Given the description of an element on the screen output the (x, y) to click on. 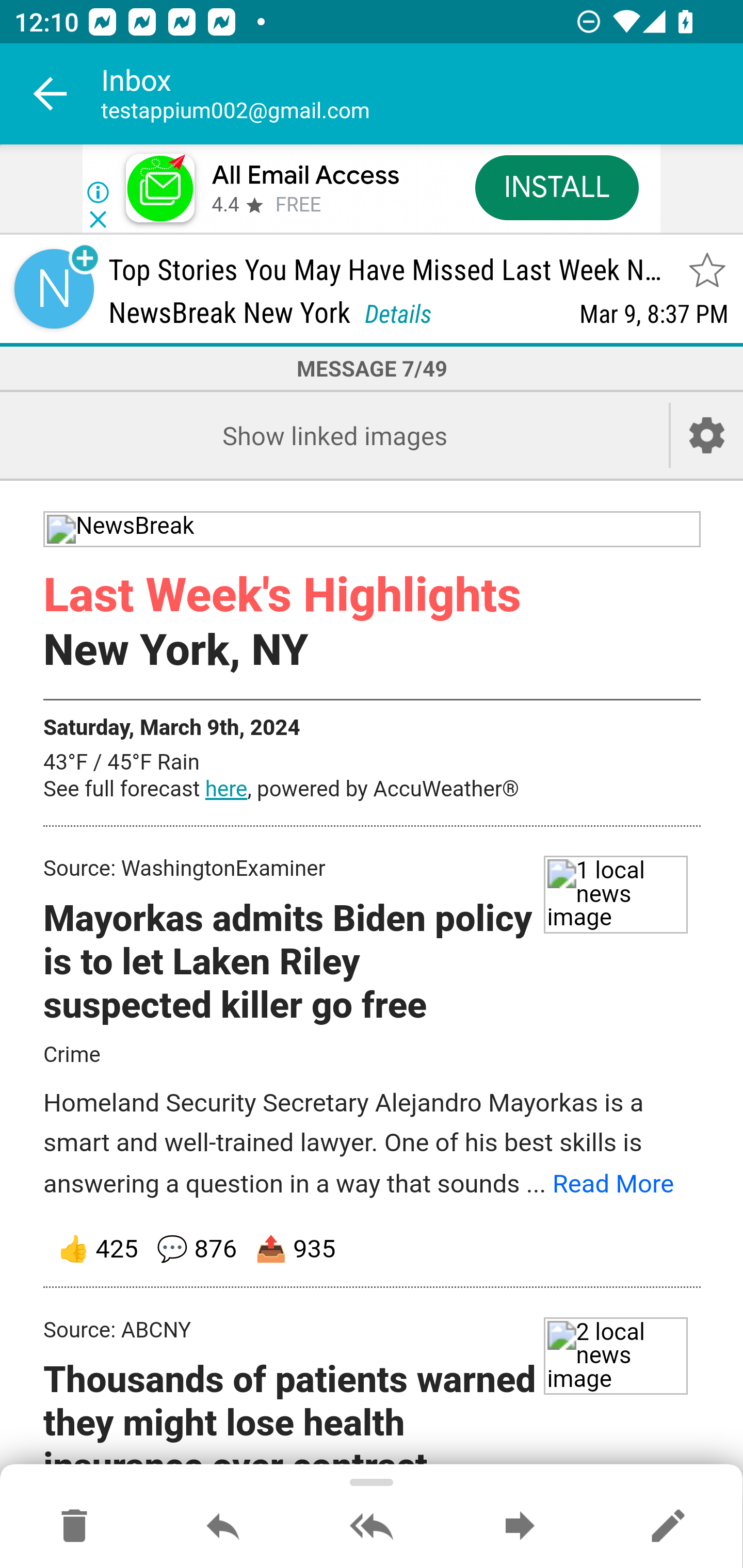
Navigate up (50, 93)
Inbox testappium002@gmail.com (422, 93)
INSTALL (556, 187)
All Email Access (305, 175)
4.4 (224, 204)
FREE (298, 204)
Sender contact button (53, 289)
Show linked images (334, 435)
Account setup (706, 435)
here (225, 789)
👍 425   💬 876   📤 935 (372, 1250)
Move to Deleted (74, 1527)
Reply (222, 1527)
Reply all (371, 1527)
Forward (519, 1527)
Reply as new (667, 1527)
